Given the description of an element on the screen output the (x, y) to click on. 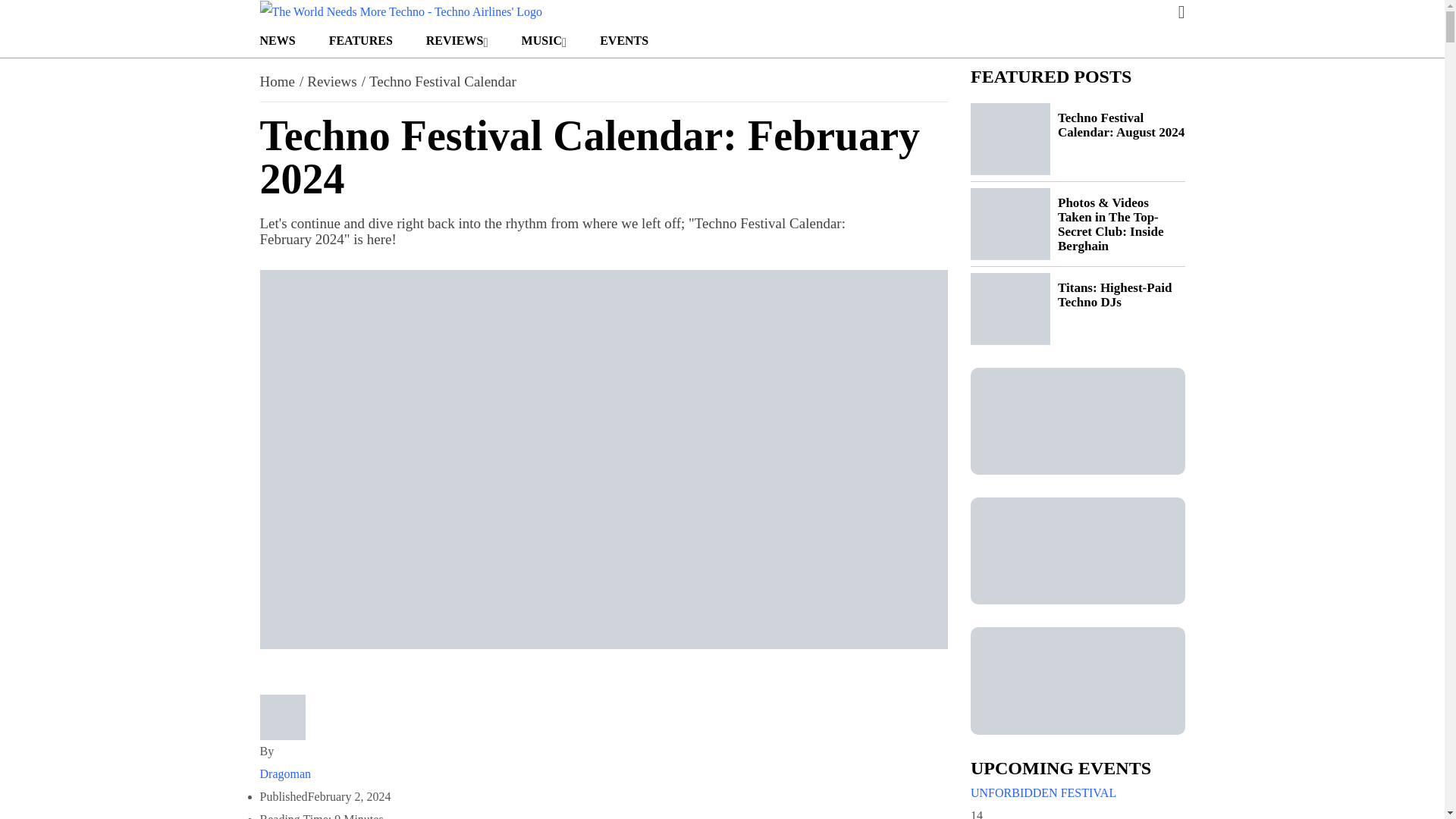
NEWS (277, 40)
Techno Festival Calendar (442, 81)
Home (276, 81)
Dragoman (603, 773)
FEATURES (361, 40)
REVIEWS (457, 40)
Reviews (331, 81)
MUSIC (544, 40)
EVENTS (622, 40)
